Given the description of an element on the screen output the (x, y) to click on. 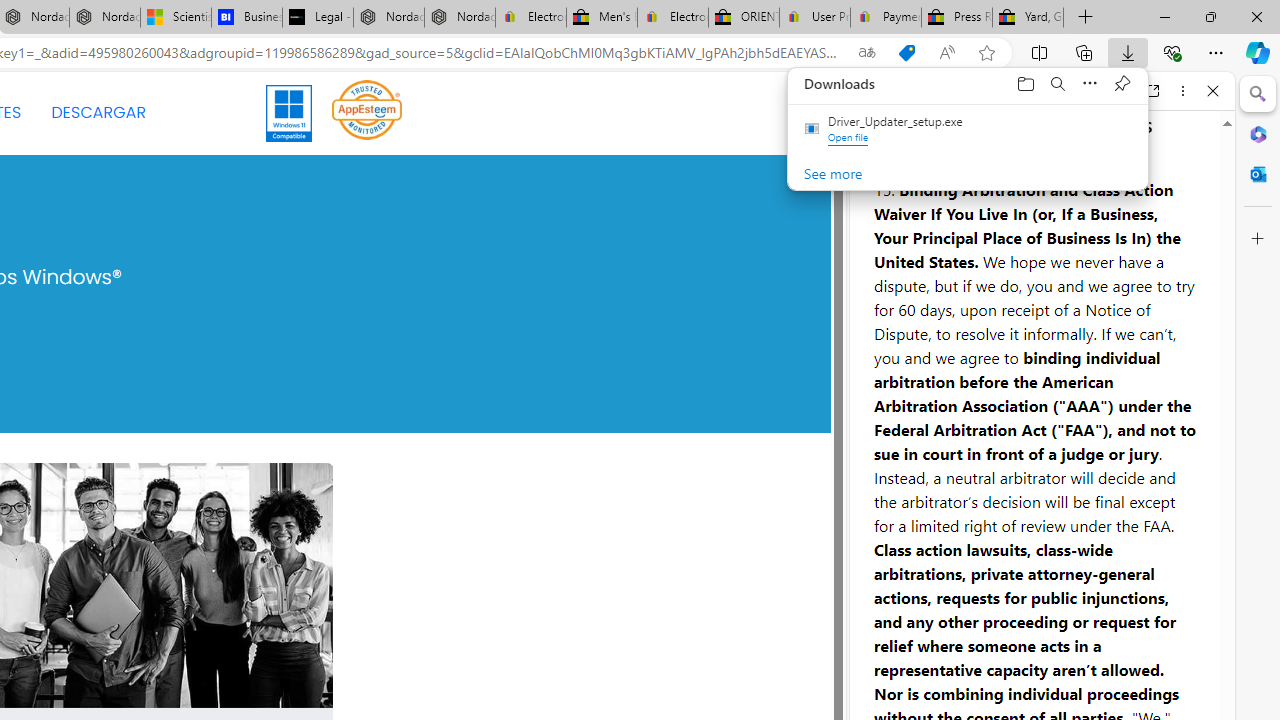
Press Room - eBay Inc. (956, 17)
Yard, Garden & Outdoor Living (1028, 17)
DESCARGAR (98, 112)
Search downloads (1058, 83)
Downloads (1128, 52)
Downloads (1074, 83)
